Given the description of an element on the screen output the (x, y) to click on. 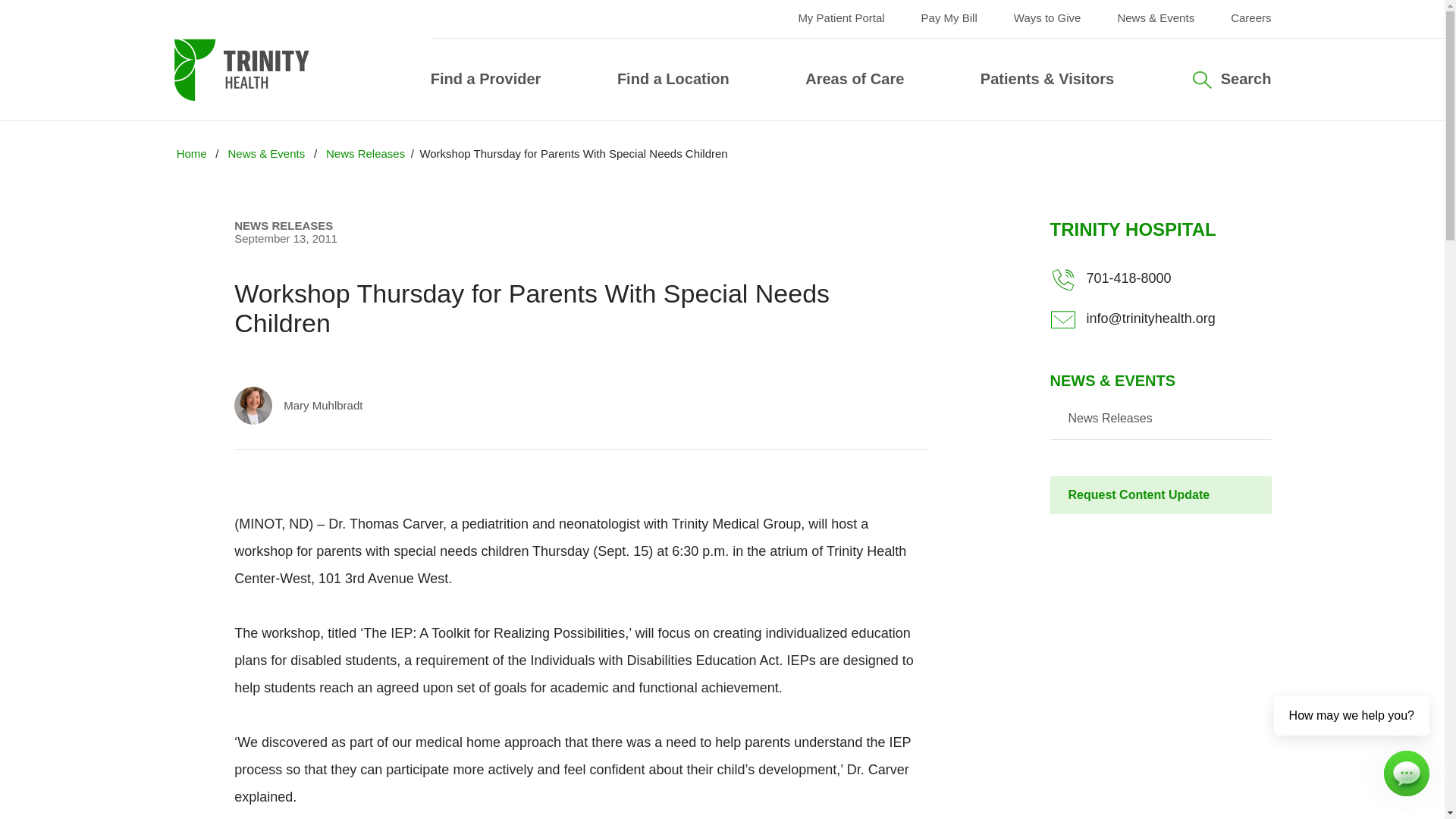
Find a Location (673, 78)
Find a Provider (485, 78)
Search (1231, 78)
Ways to Give (1047, 17)
search (978, 235)
Areas of Care (854, 78)
Careers (1250, 17)
My Patient Portal (840, 17)
Pay My Bill (948, 17)
